Given the description of an element on the screen output the (x, y) to click on. 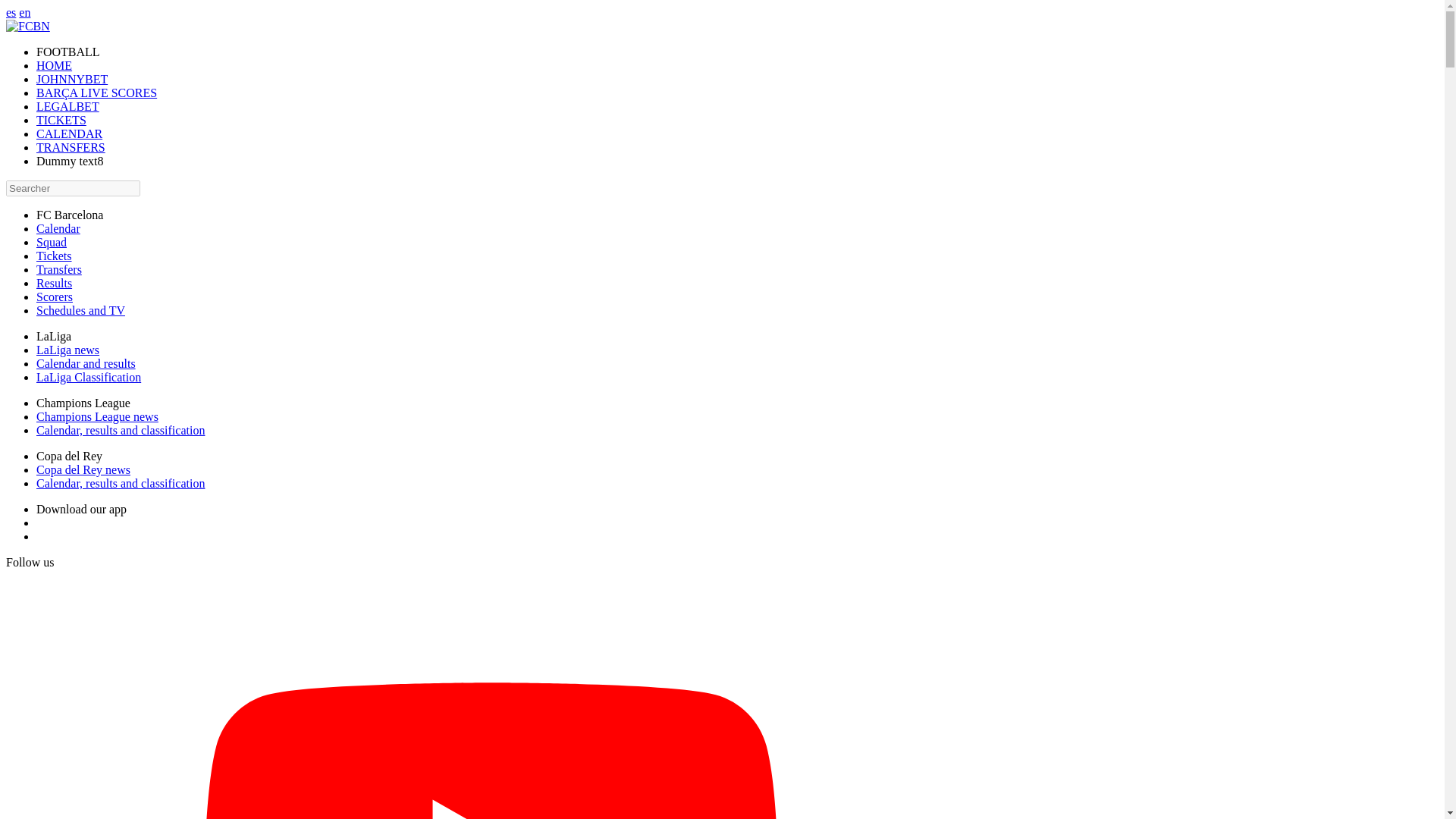
CALENDAR (68, 133)
Transfers (58, 269)
Tickets (53, 255)
TRANSFERS (70, 146)
Squad (51, 241)
Calendar (58, 228)
Results (53, 282)
LaLiga news (67, 349)
FCBN (27, 26)
Schedules and TV (80, 309)
